Given the description of an element on the screen output the (x, y) to click on. 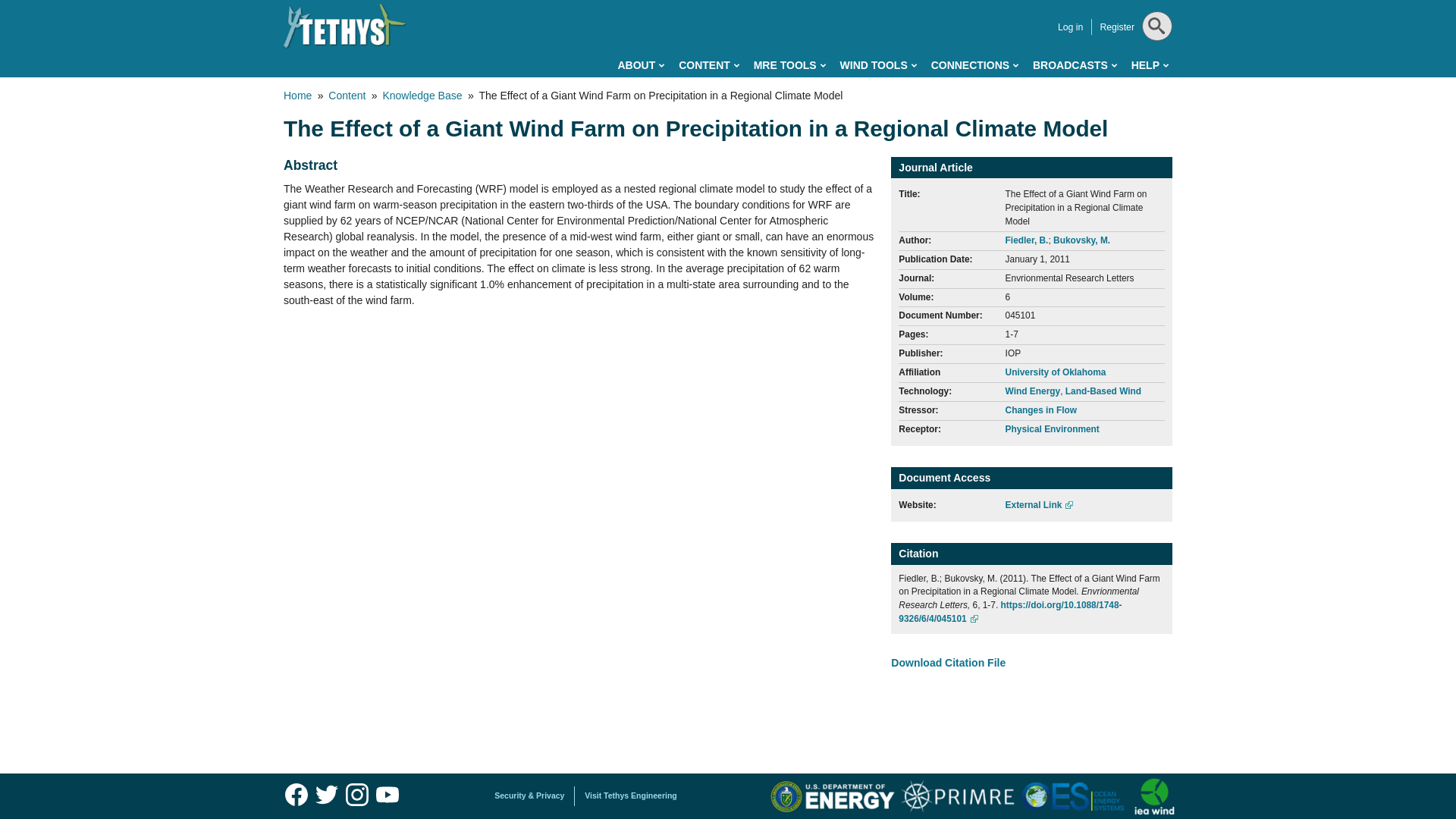
Search (1155, 64)
Home (344, 26)
Register (1116, 27)
BROADCASTS (1074, 65)
Log in (1070, 27)
HELP (1150, 65)
CONNECTIONS (974, 65)
ABOUT (640, 65)
Skip to main content (659, 3)
WIND TOOLS (878, 65)
